Given the description of an element on the screen output the (x, y) to click on. 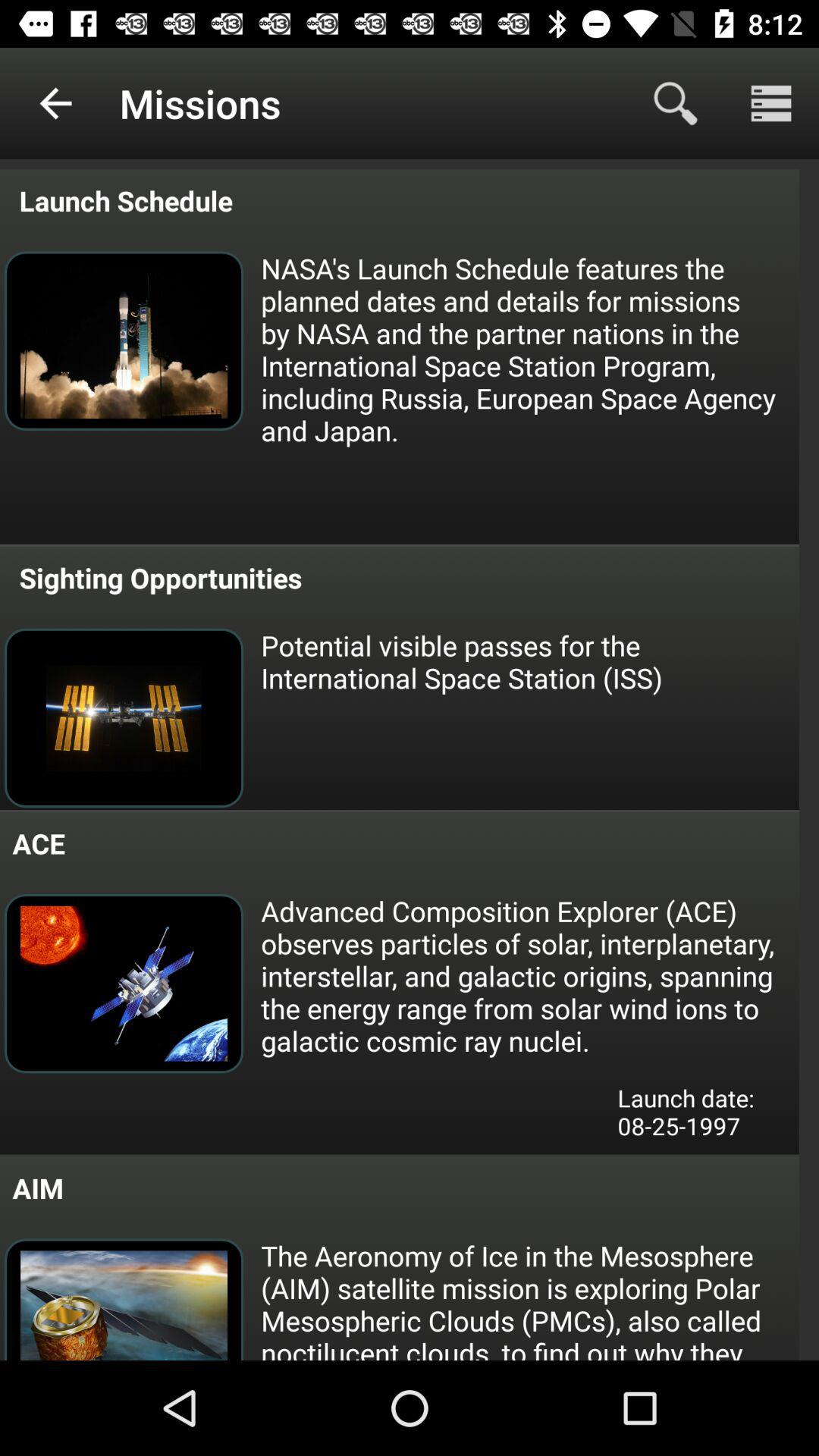
open icon above nasa s launch item (771, 103)
